Given the description of an element on the screen output the (x, y) to click on. 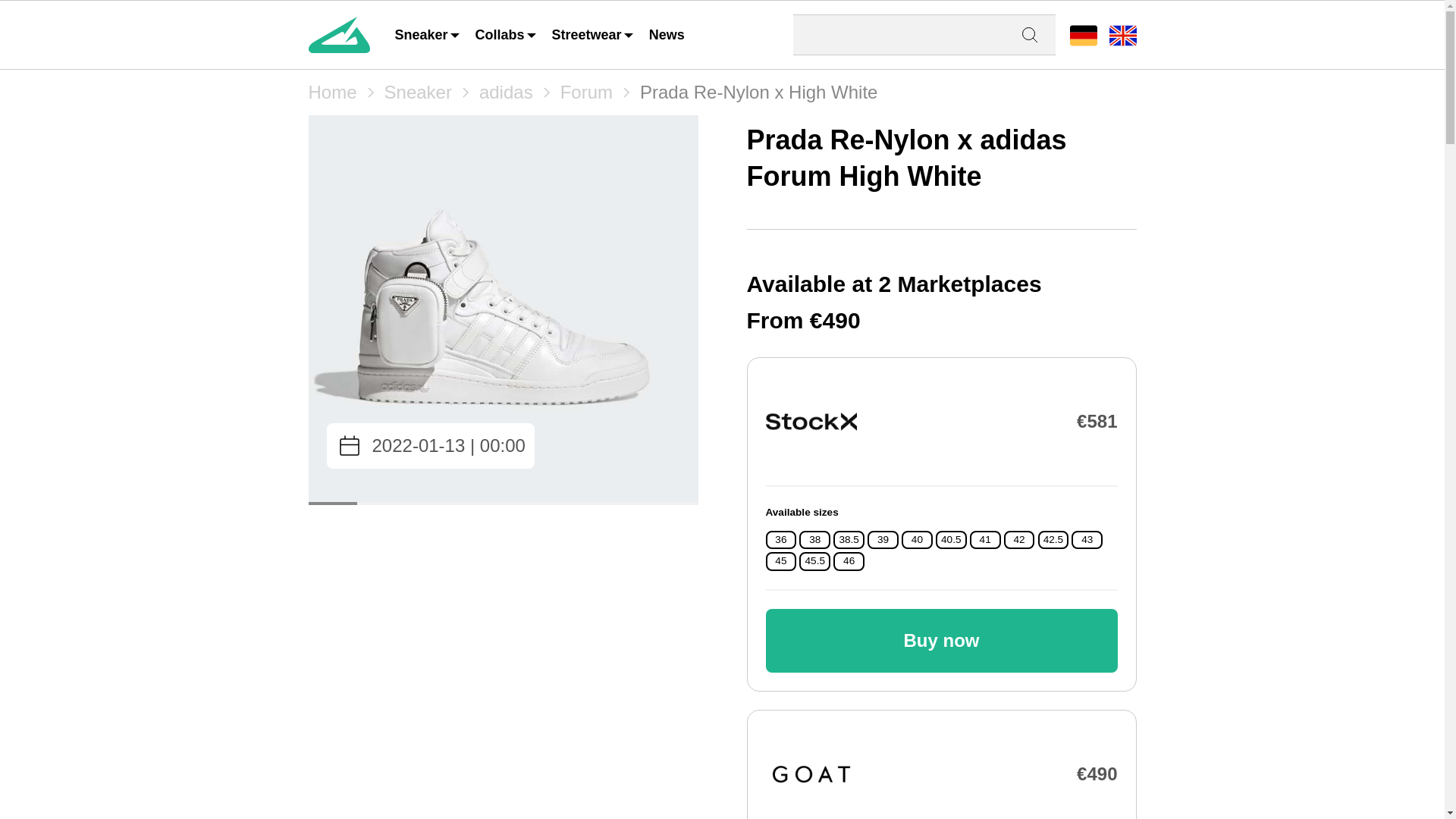
45.5 (815, 560)
Forum (586, 92)
adidas (505, 92)
Sneaker (417, 92)
43 (1087, 539)
Home (331, 92)
42 (1019, 539)
46 (848, 560)
42.5 (1052, 539)
45 (780, 560)
